Given the description of an element on the screen output the (x, y) to click on. 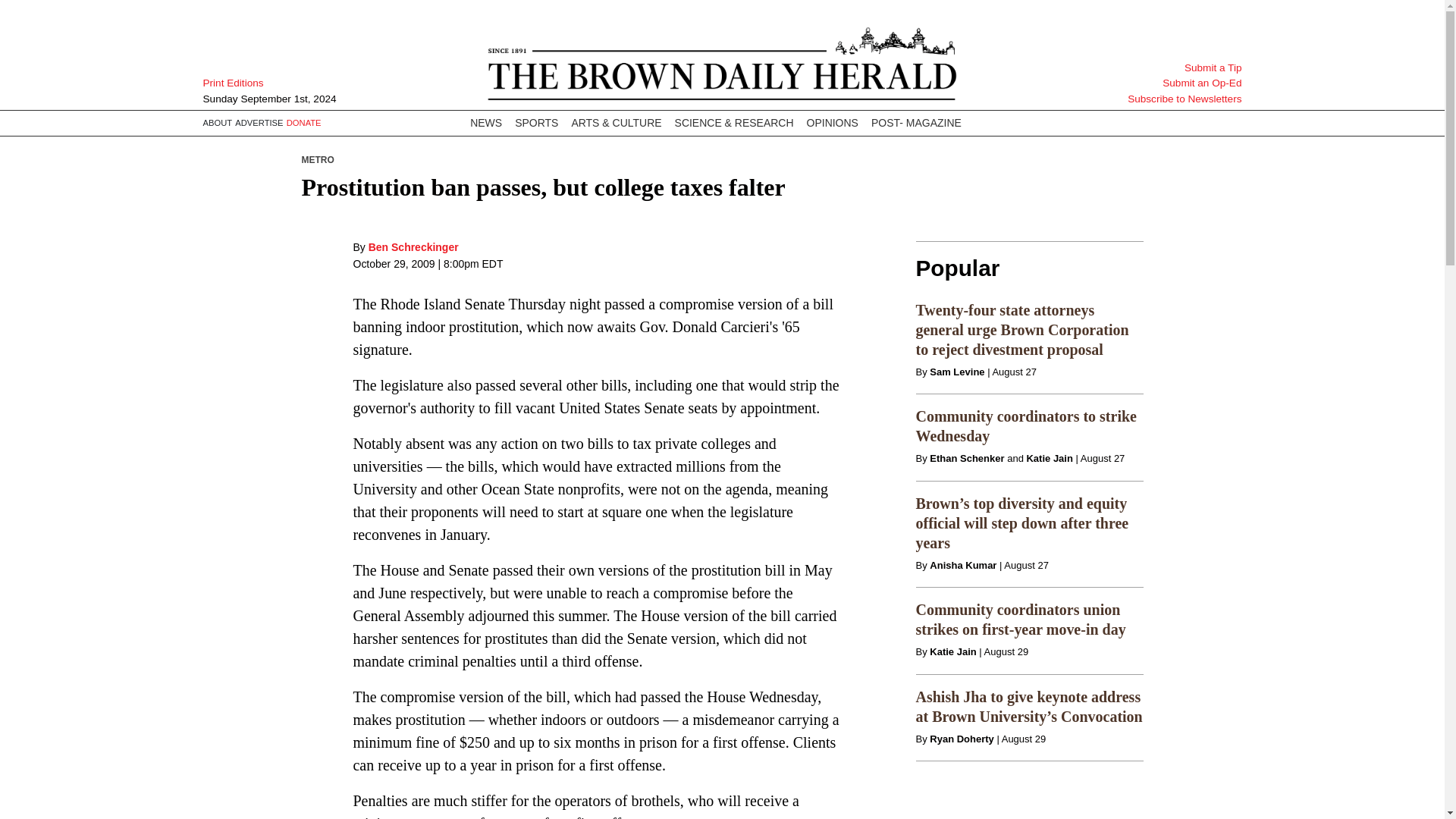
Submit an Op-Ed (1164, 83)
SPORTS (536, 122)
Subscribe to Newsletters (1164, 99)
Print Editions (279, 83)
Submit a Tip (1164, 68)
OPINIONS (831, 122)
NEWS (486, 122)
Community coordinators to strike Wednesday (1026, 425)
Sports (536, 122)
